Given the description of an element on the screen output the (x, y) to click on. 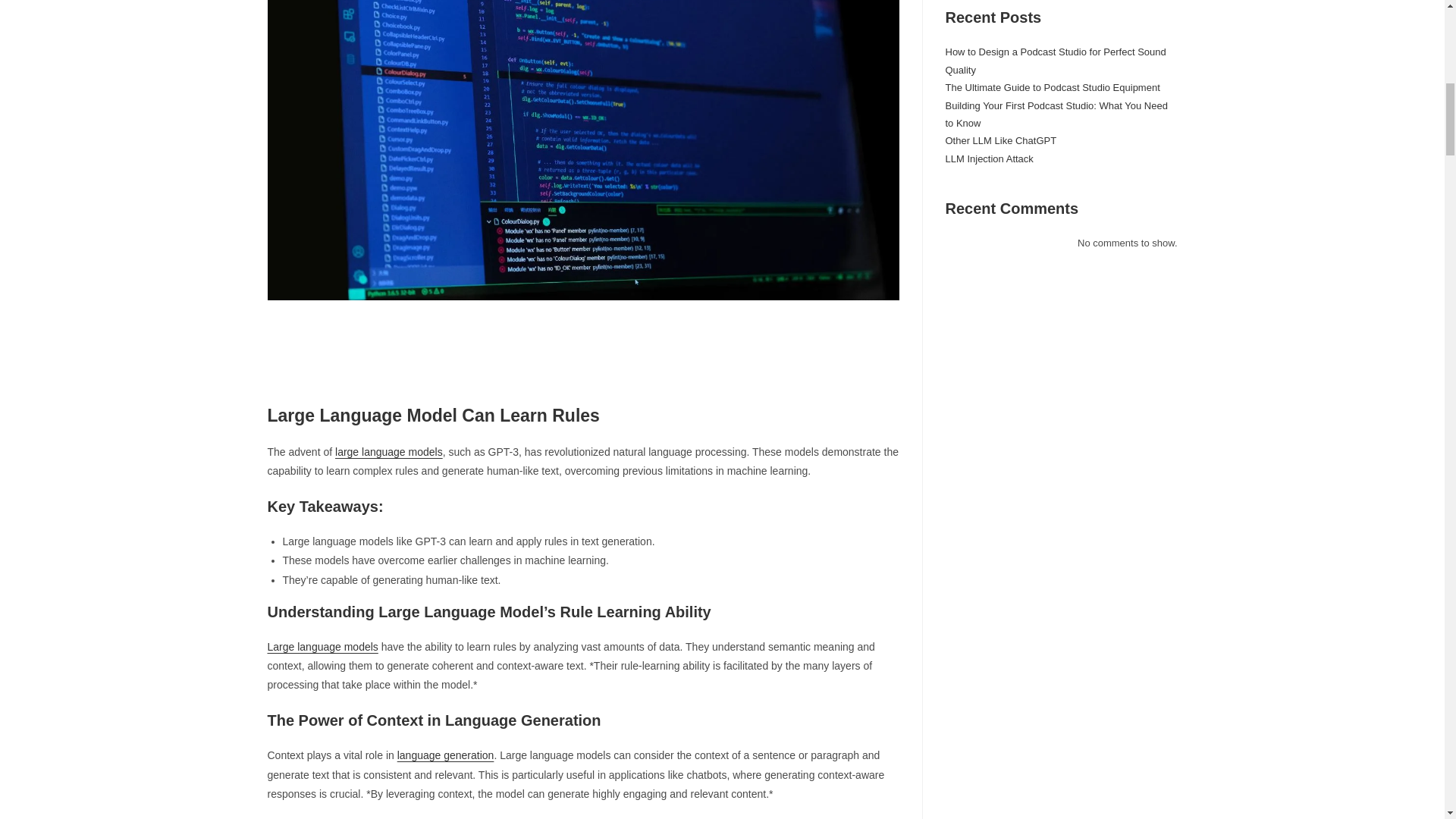
language generation (446, 755)
Large language models (321, 646)
large language models (388, 451)
